Given the description of an element on the screen output the (x, y) to click on. 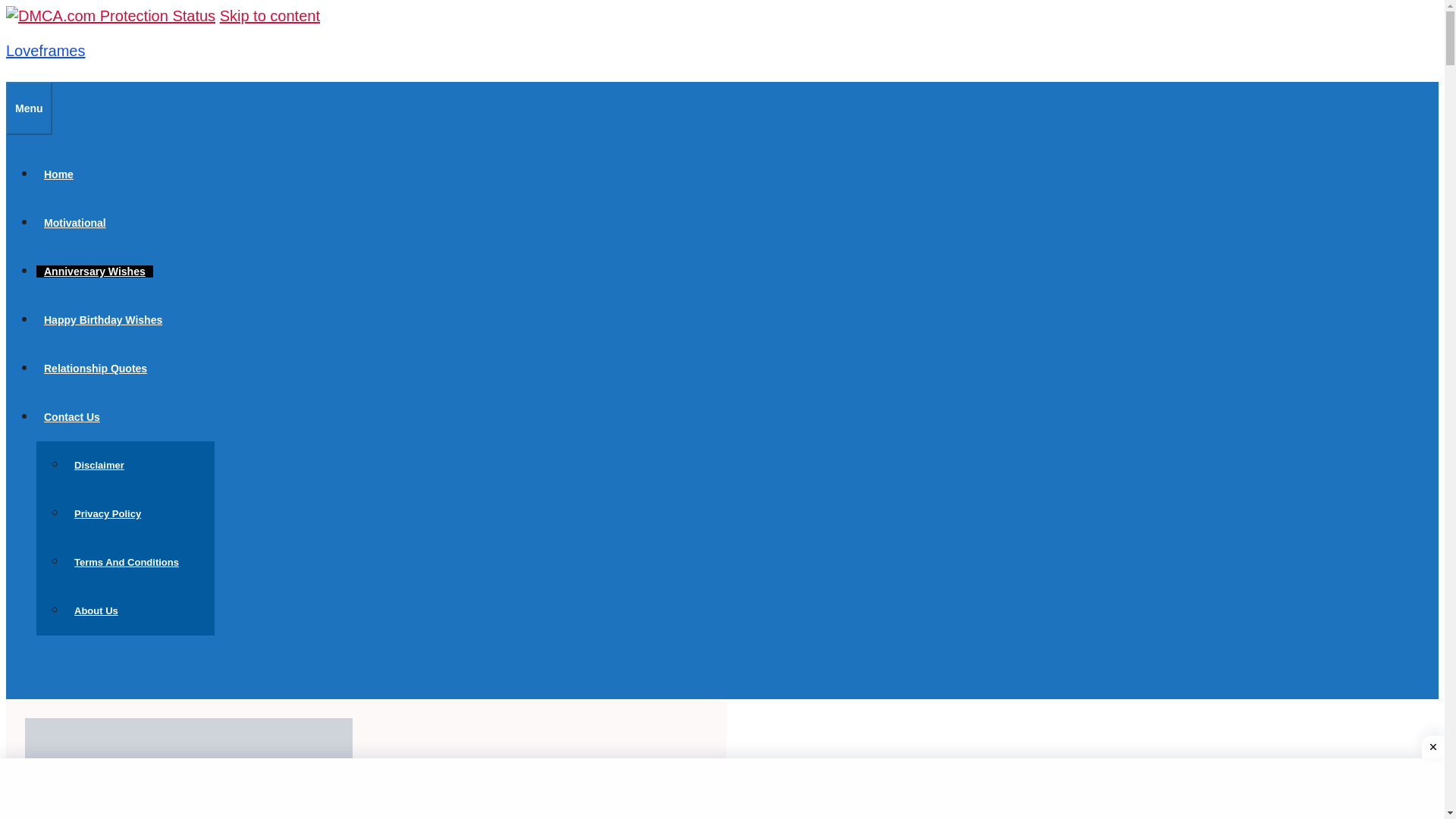
Anniversary Wishes (94, 271)
Skip to content (269, 15)
DMCA.com Protection Status (110, 15)
Relationship Quotes (95, 368)
Terms And Conditions (126, 562)
Loveframes (45, 50)
Disclaimer (99, 464)
About Us (95, 610)
Motivational (74, 223)
Happy Birthday Wishes (103, 319)
